Given the description of an element on the screen output the (x, y) to click on. 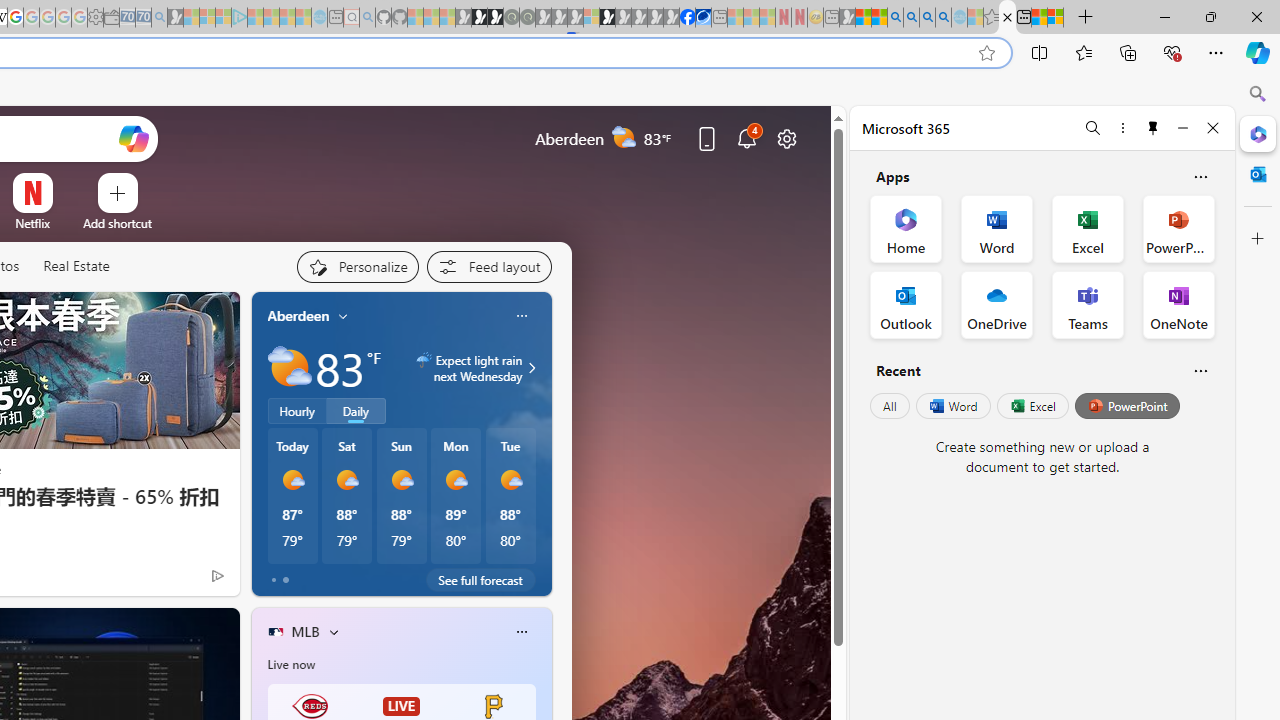
Expect light rain next Wednesday (529, 367)
Sign in to your account - Sleeping (591, 17)
OneNote Office App (1178, 304)
More interests (333, 631)
Personalize your feed" (356, 266)
MLB (305, 631)
github - Search - Sleeping (367, 17)
All (890, 406)
